Given the description of an element on the screen output the (x, y) to click on. 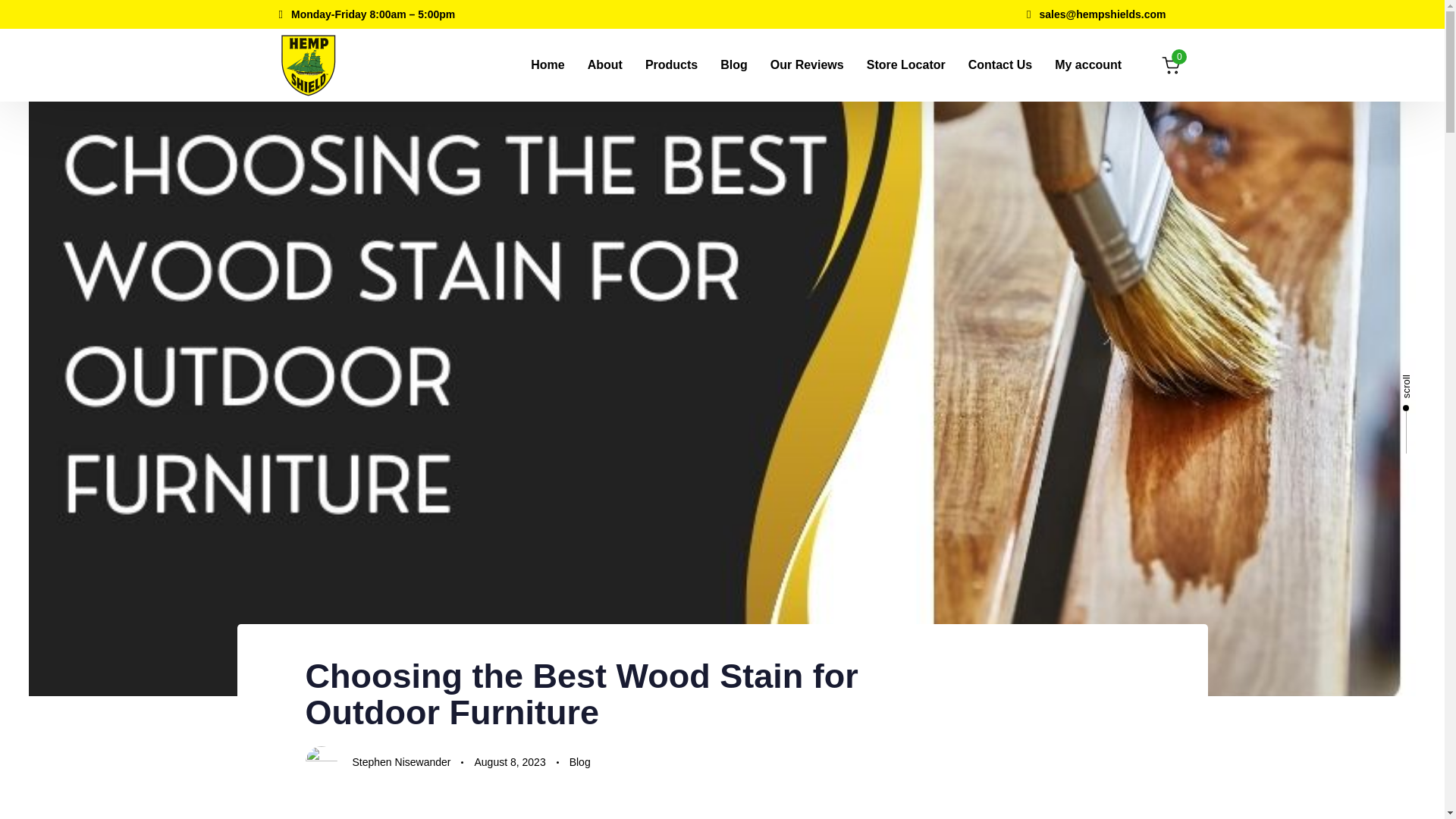
Our Reviews (807, 64)
Posts by Stephen Nisewander (400, 761)
Contact Us (999, 64)
Products (671, 64)
Blog (580, 762)
August 8, 2023 (509, 762)
My account (1087, 64)
Stephen Nisewander (400, 761)
Store Locator (906, 64)
